Given the description of an element on the screen output the (x, y) to click on. 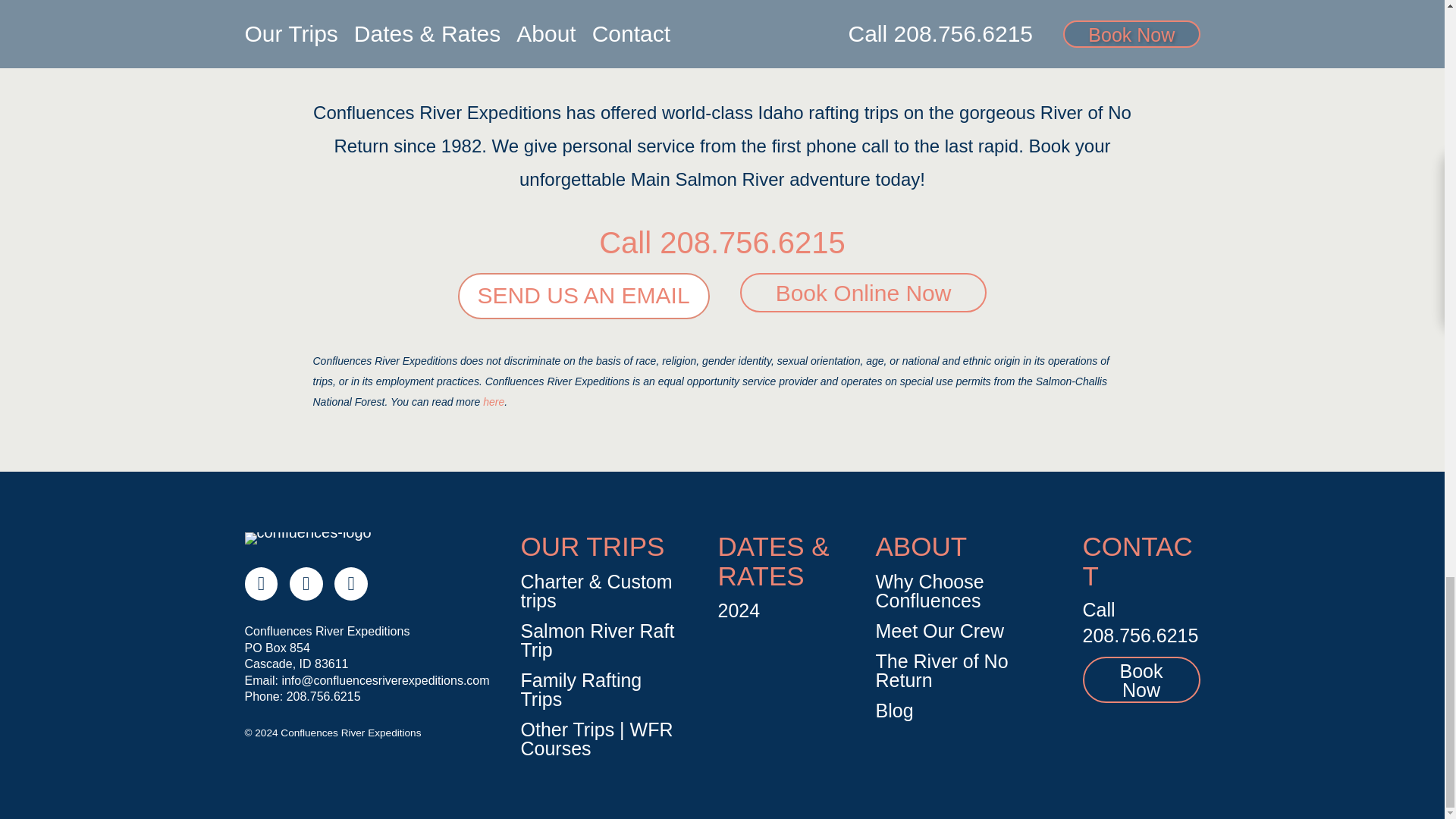
Call 208.756.6215 (721, 242)
SEND US AN EMAIL (584, 296)
confluences-logo (307, 538)
here (493, 401)
video-poster (722, 25)
